Given the description of an element on the screen output the (x, y) to click on. 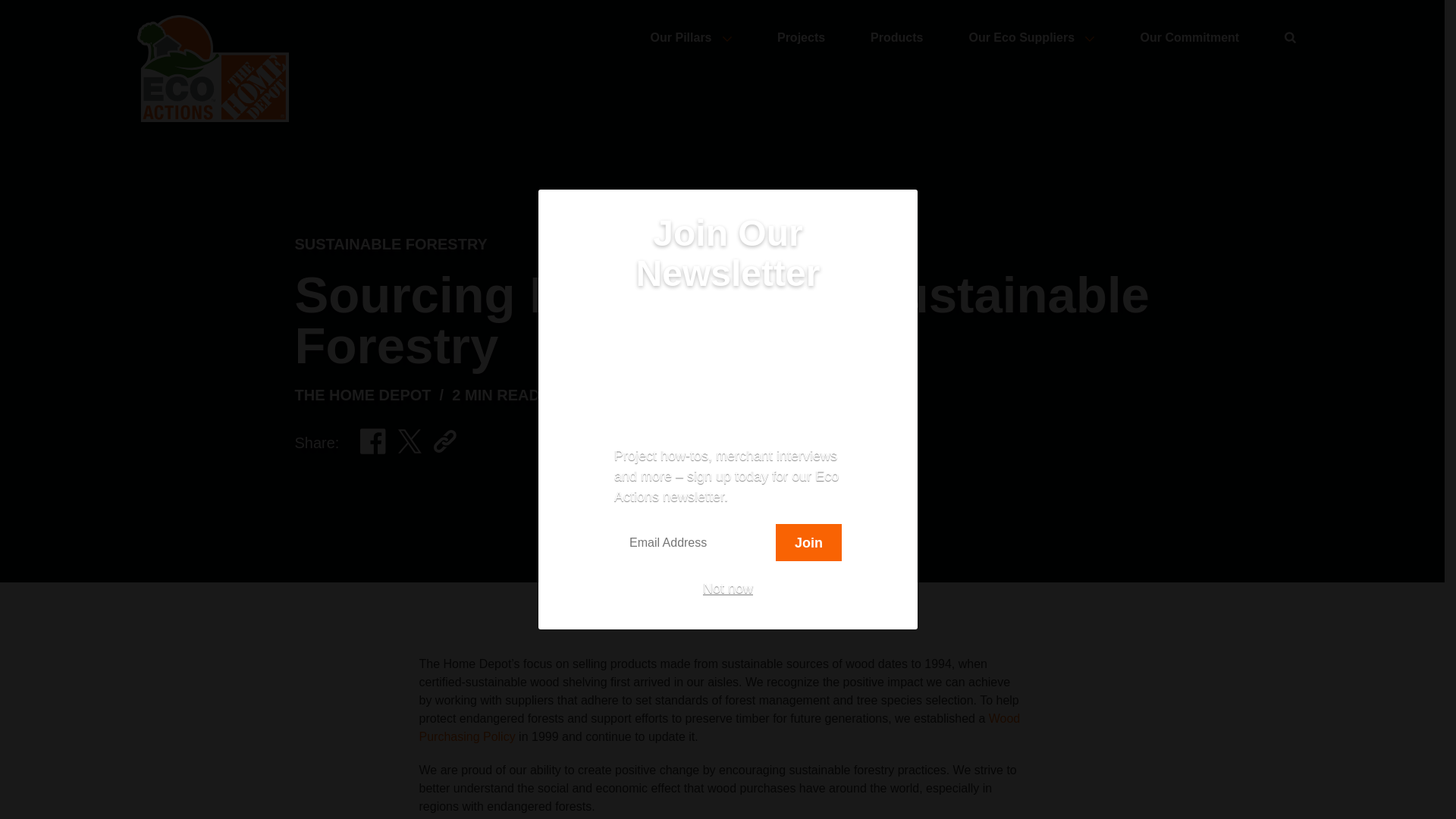
Products (890, 37)
Eco Actions (207, 68)
Our Commitment (1183, 37)
Projects (794, 37)
Our Eco Suppliers (1025, 37)
Our Pillars (685, 37)
